Given the description of an element on the screen output the (x, y) to click on. 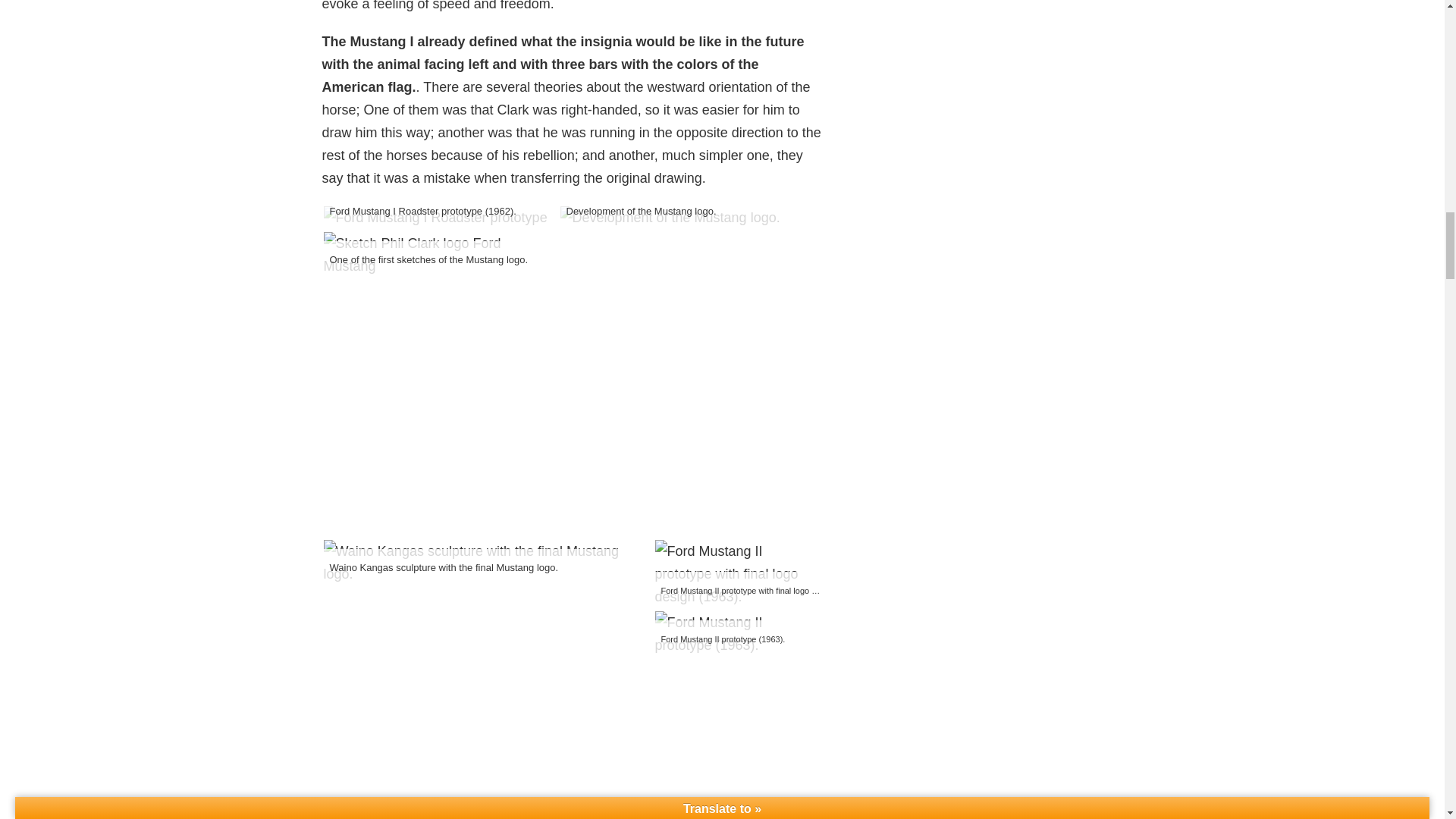
sketch ford mustang logo (668, 217)
wood sculpture badge ford mustang (486, 562)
Sketch Phil Clark logo Ford Mustang (439, 254)
Ford Mustang I Roadster prototype (435, 217)
